Given the description of an element on the screen output the (x, y) to click on. 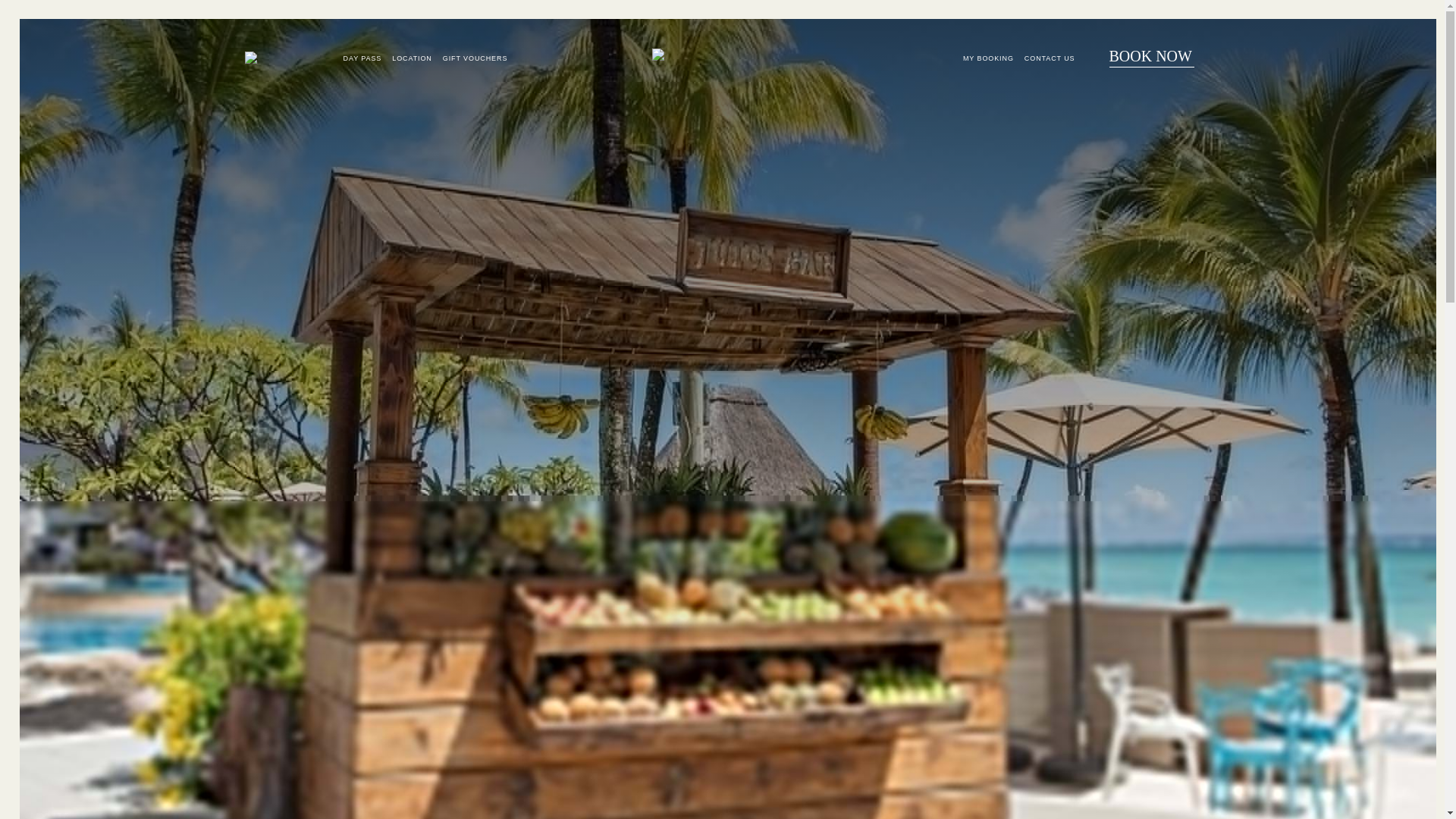
LOCATION (411, 58)
MY BOOKING (987, 58)
GIFT VOUCHERS (475, 58)
BOOK NOW (1150, 61)
CONTACT US (1050, 58)
DAY PASS (361, 58)
